Given the description of an element on the screen output the (x, y) to click on. 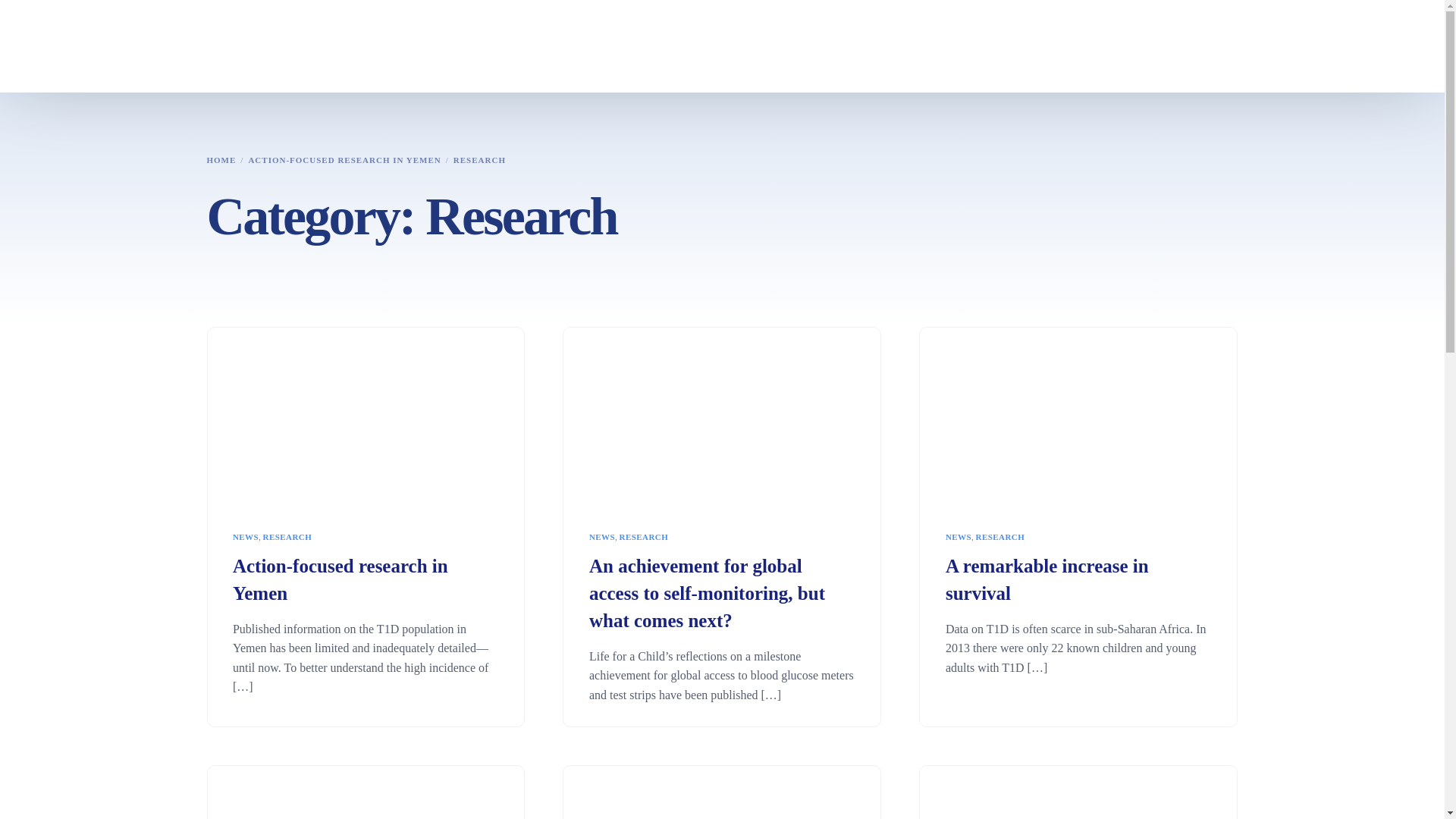
View Post: Action-focused research in Yemen  (365, 579)
View News posts (245, 537)
View Research posts (288, 537)
View News posts (601, 537)
View Research posts (644, 537)
View Post: A remarkable increase in survival (1078, 417)
View Research posts (1000, 537)
